Given the description of an element on the screen output the (x, y) to click on. 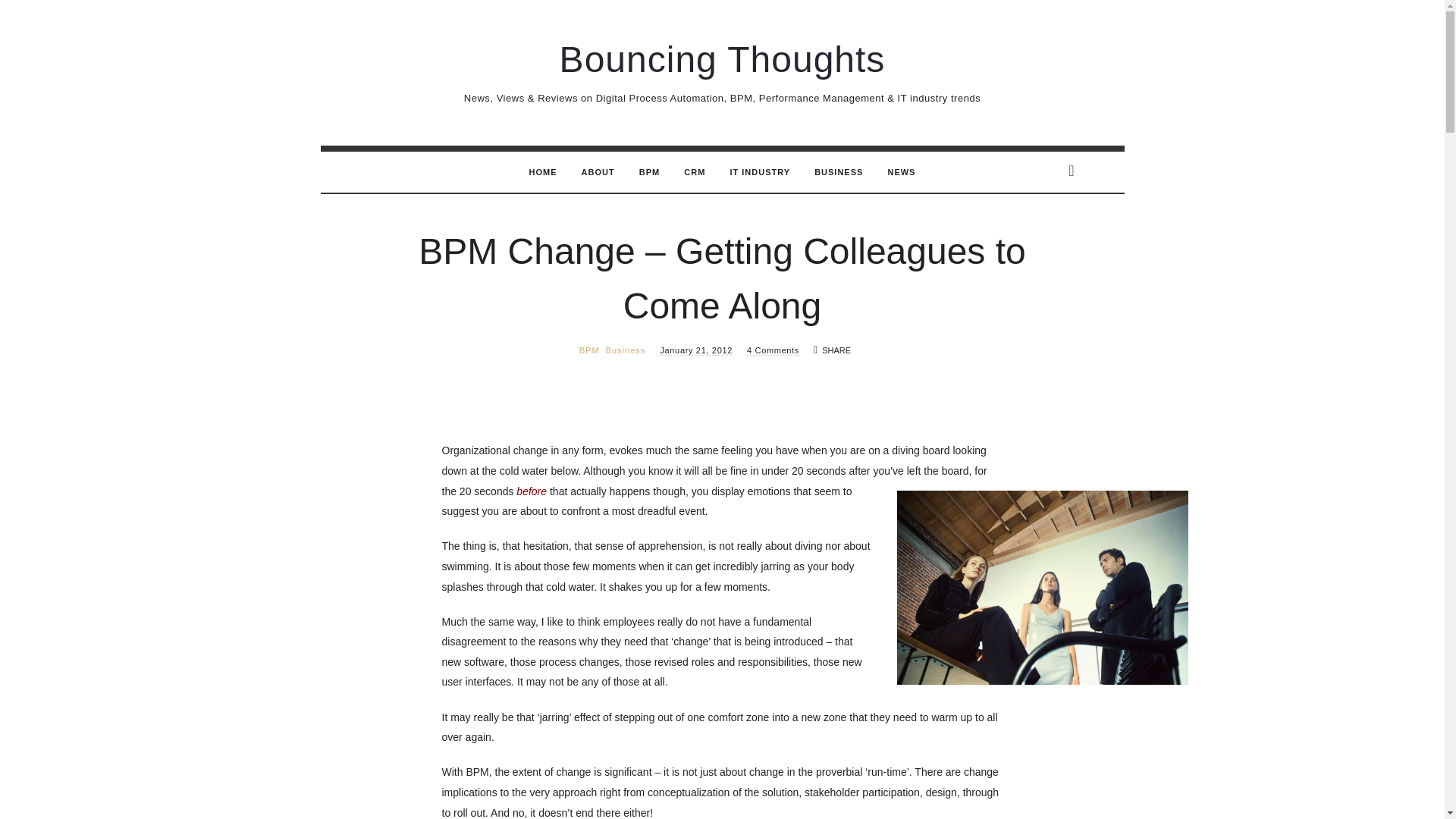
BUSINESS (838, 171)
Business (625, 350)
IT INDUSTRY (759, 171)
Search (39, 18)
4 Comments (772, 350)
January 21, 2012 (695, 350)
BPM (589, 350)
